Given the description of an element on the screen output the (x, y) to click on. 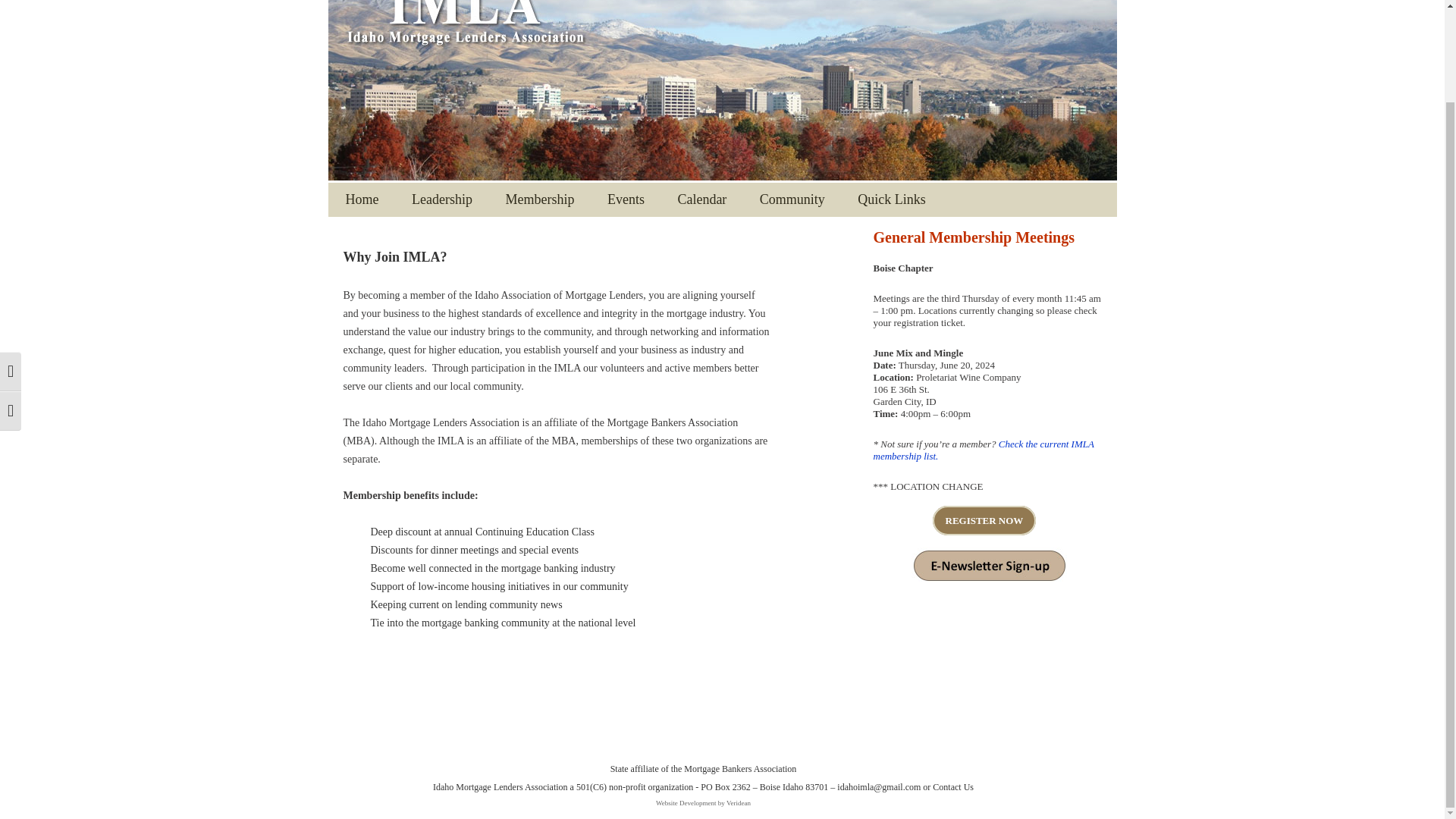
Events (626, 199)
Community (792, 199)
Calendar (701, 199)
Leadership (441, 199)
Golf (675, 232)
Website Development by Veridean (703, 802)
REGISTER NOW (984, 520)
Check the current IMLA membership list. (983, 449)
Membership (539, 199)
Join Now (573, 232)
Quick Links (891, 199)
Home (362, 199)
Contact Us (953, 787)
